Given the description of an element on the screen output the (x, y) to click on. 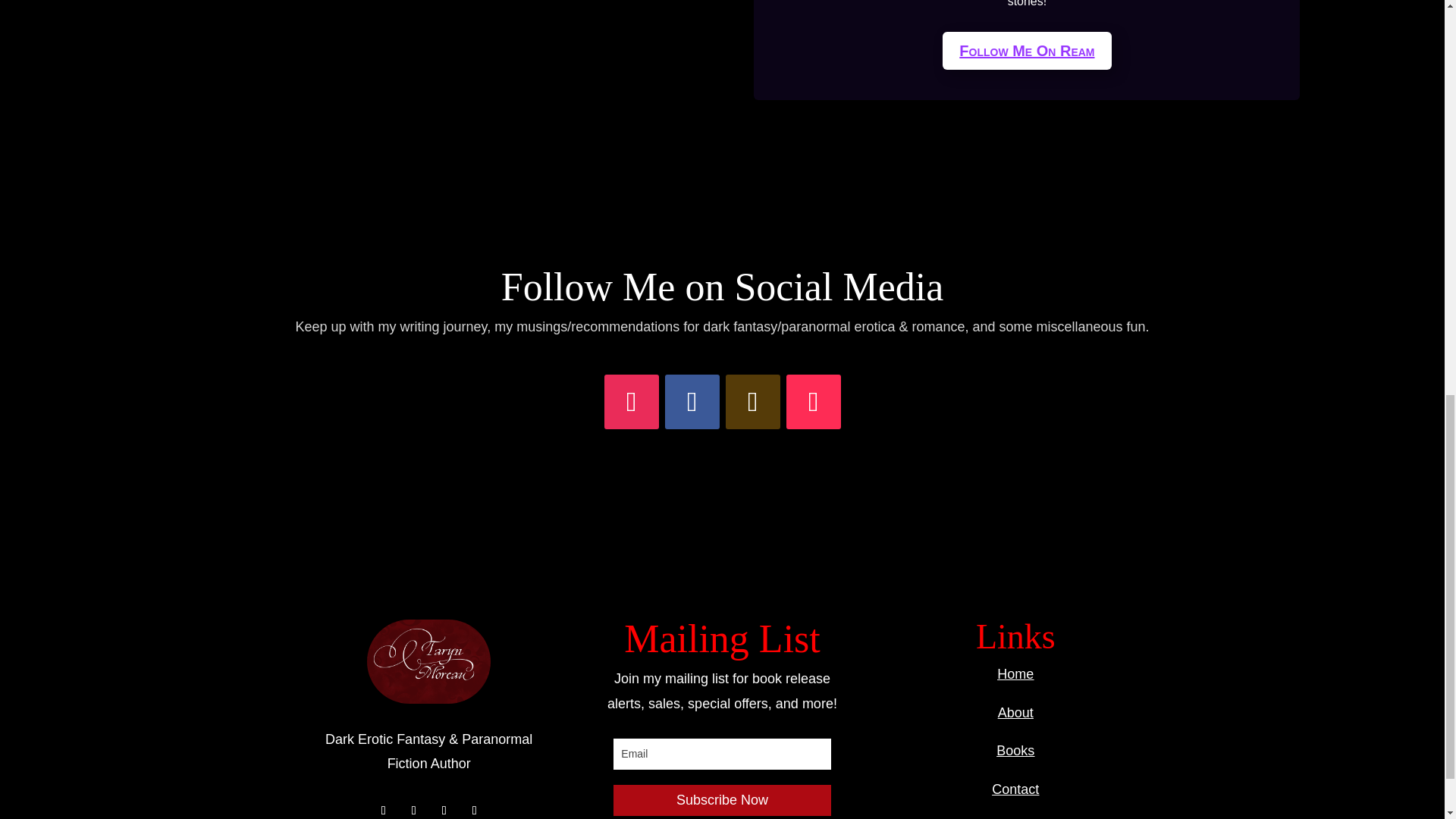
Follow on Instagram (631, 401)
Follow on TikTok (813, 401)
Home (1015, 673)
Contact (1015, 789)
About (1015, 712)
Follow on Facebook (691, 401)
Subscribe Now (720, 799)
Follow on Goodreads (751, 401)
Books (1014, 750)
Follow Me On Ream (1026, 50)
